Given the description of an element on the screen output the (x, y) to click on. 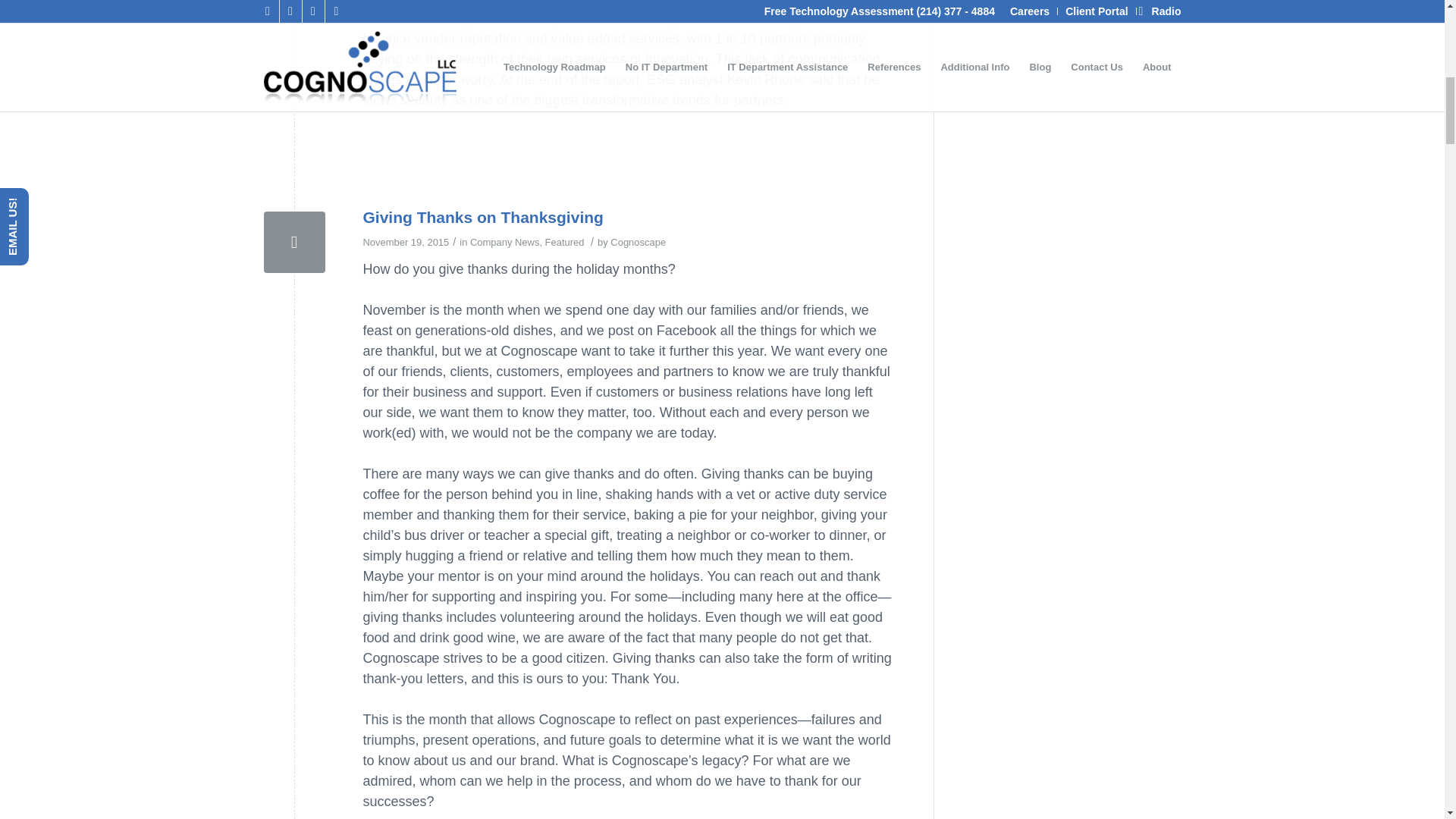
Permanent Link: Giving Thanks on Thanksgiving (482, 217)
Giving Thanks on Thanksgiving (293, 241)
Cognoscape (637, 242)
Company News (504, 242)
Featured (564, 242)
Posts by Cognoscape (637, 242)
Giving Thanks on Thanksgiving (482, 217)
